Given the description of an element on the screen output the (x, y) to click on. 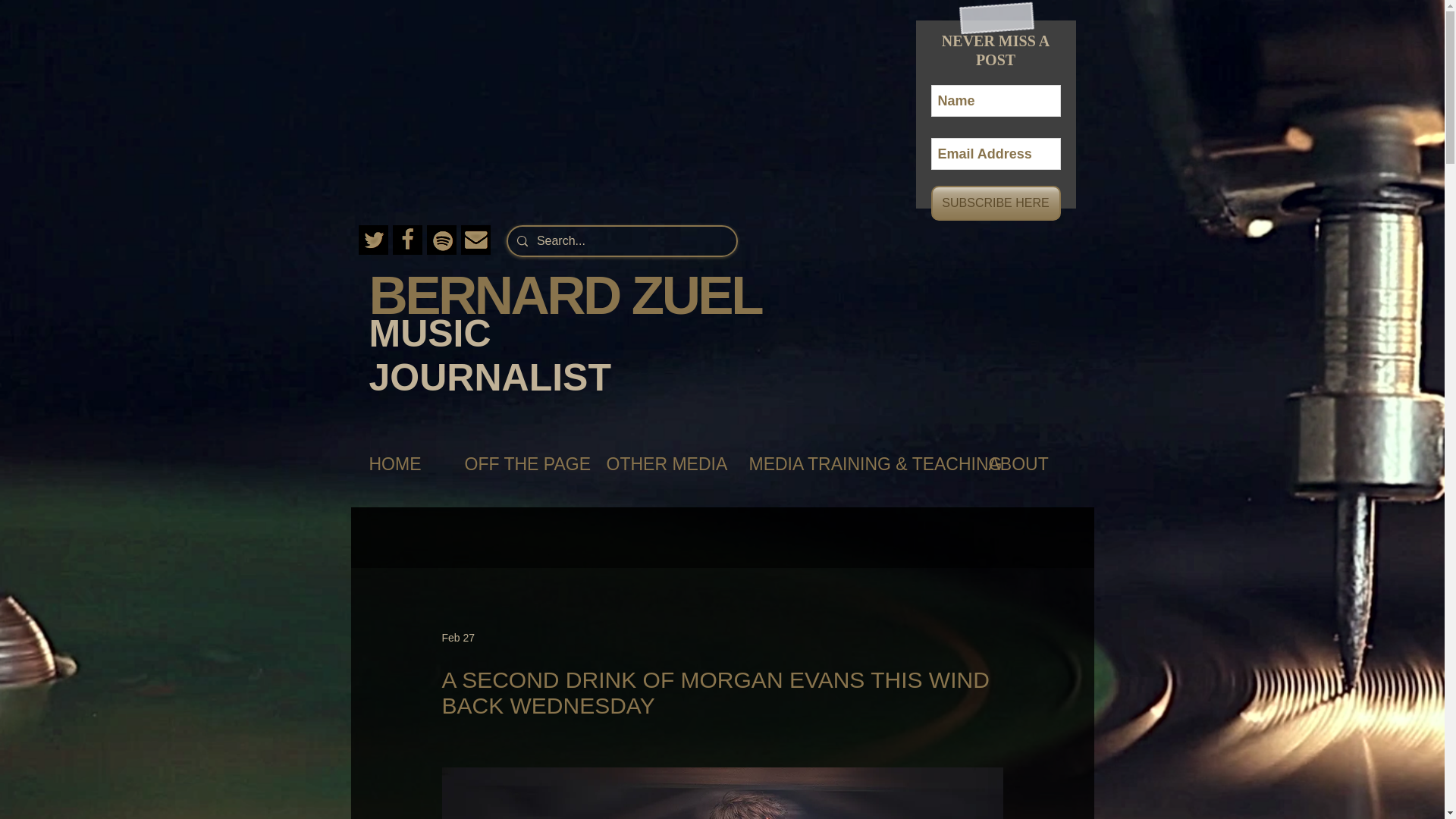
OTHER MEDIA (662, 464)
ABOUT (1024, 464)
HOME (400, 464)
Feb 27 (457, 636)
SUBSCRIBE HERE (996, 202)
